Given the description of an element on the screen output the (x, y) to click on. 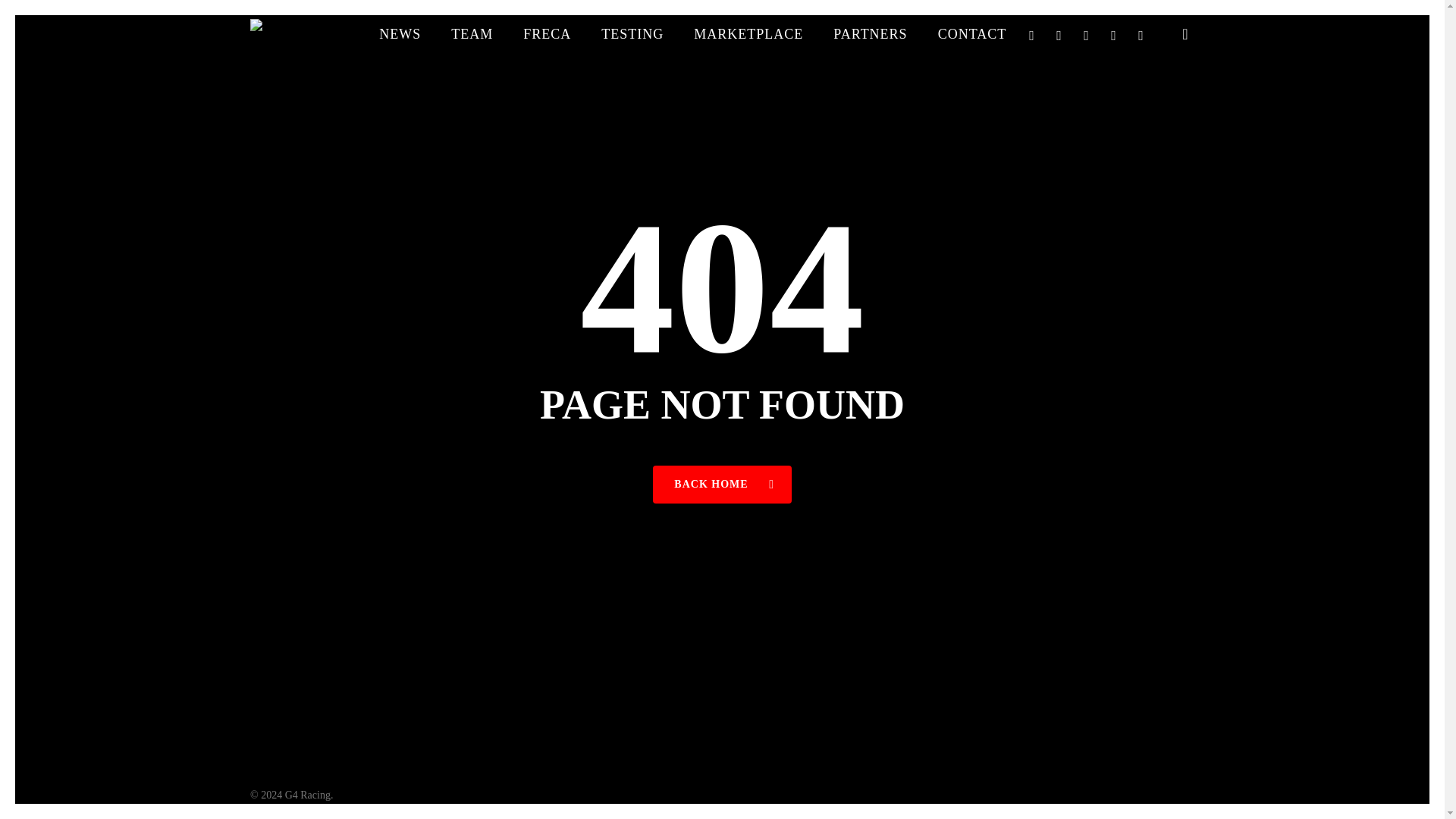
NEWS (399, 33)
PARTNERS (869, 33)
account (1184, 33)
TEAM (471, 33)
FRECA (547, 33)
FACEBOOK (1059, 34)
MARKETPLACE (748, 33)
TESTING (632, 33)
EMAIL (1140, 34)
INSTAGRAM (1113, 34)
TWITTER (1031, 34)
LINKEDIN (1086, 34)
BACK HOME (721, 484)
CONTACT (972, 33)
